Given the description of an element on the screen output the (x, y) to click on. 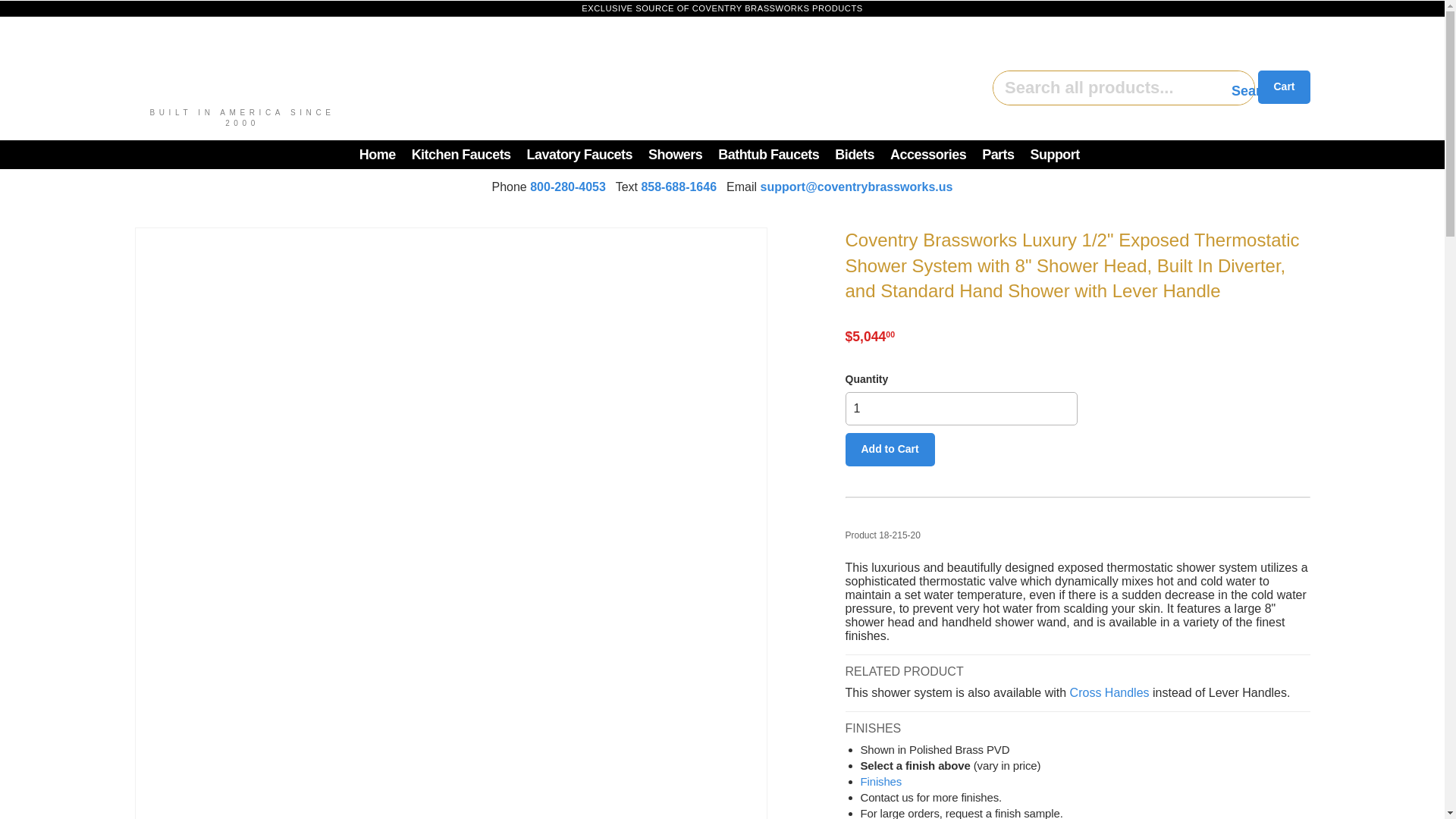
BUILT IN AMERICA SINCE 2000 (425, 72)
800-280-4053 (567, 186)
858-688-1646 (678, 186)
Showers (674, 154)
Search (1230, 88)
Text 858-688-1646 (678, 186)
Accessories (927, 154)
Telephone 800-280-4053 (567, 186)
Support (1055, 154)
Cart (1282, 87)
